Given the description of an element on the screen output the (x, y) to click on. 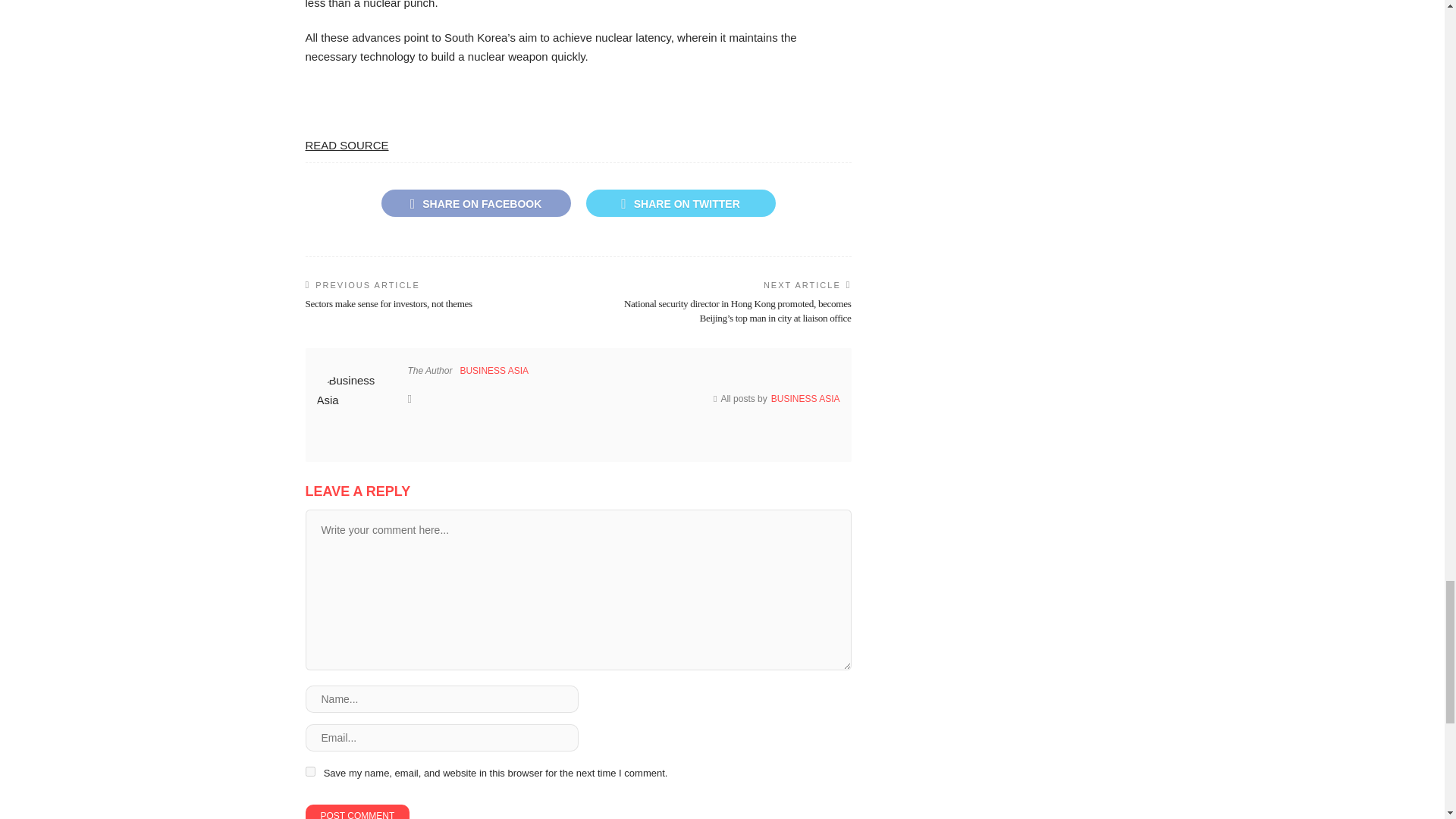
Sectors make sense for investors, not themes (387, 303)
Post Comment (356, 811)
yes (309, 770)
